Given the description of an element on the screen output the (x, y) to click on. 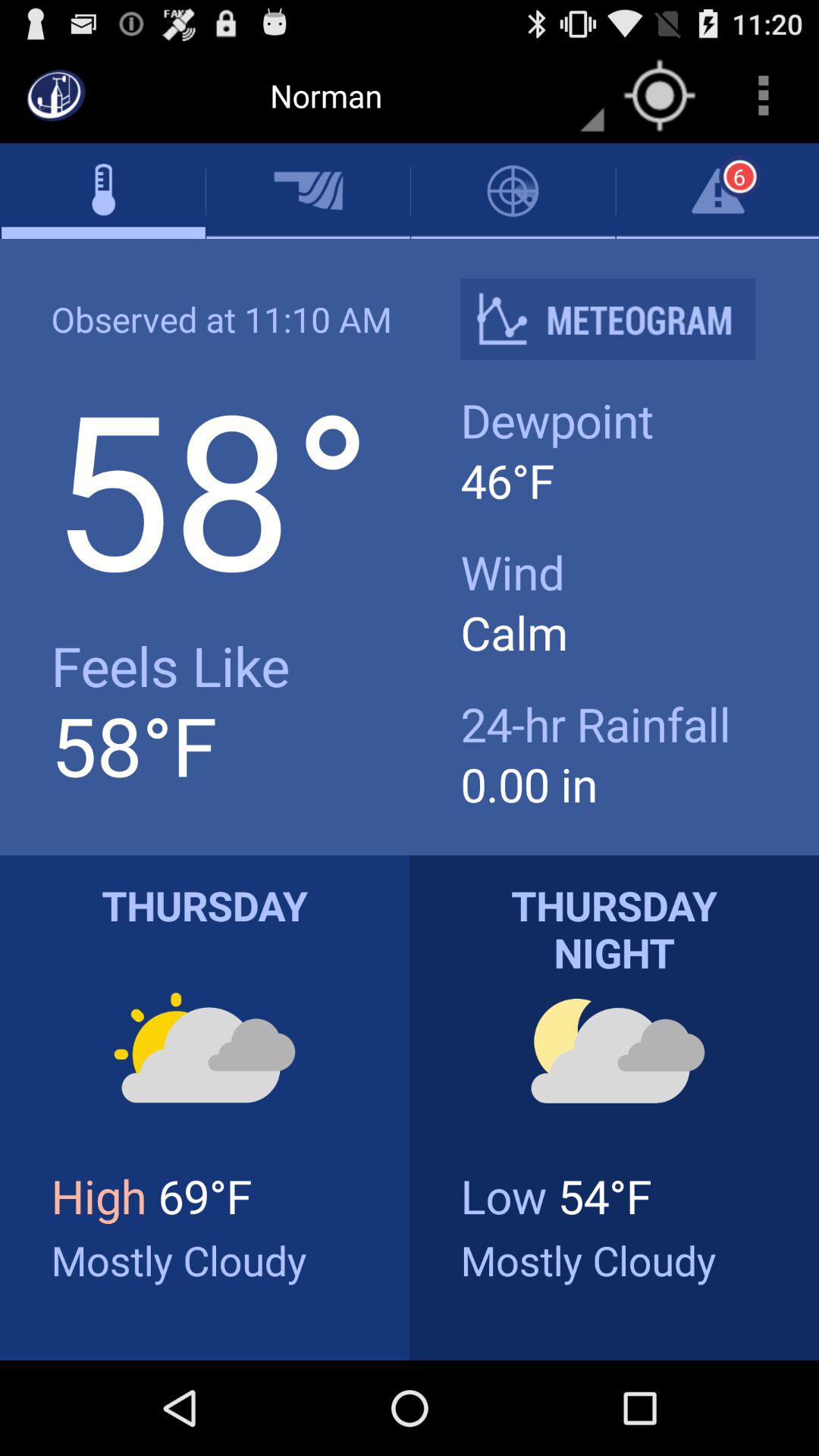
turn off the item to the right of observed at 11 (619, 319)
